Given the description of an element on the screen output the (x, y) to click on. 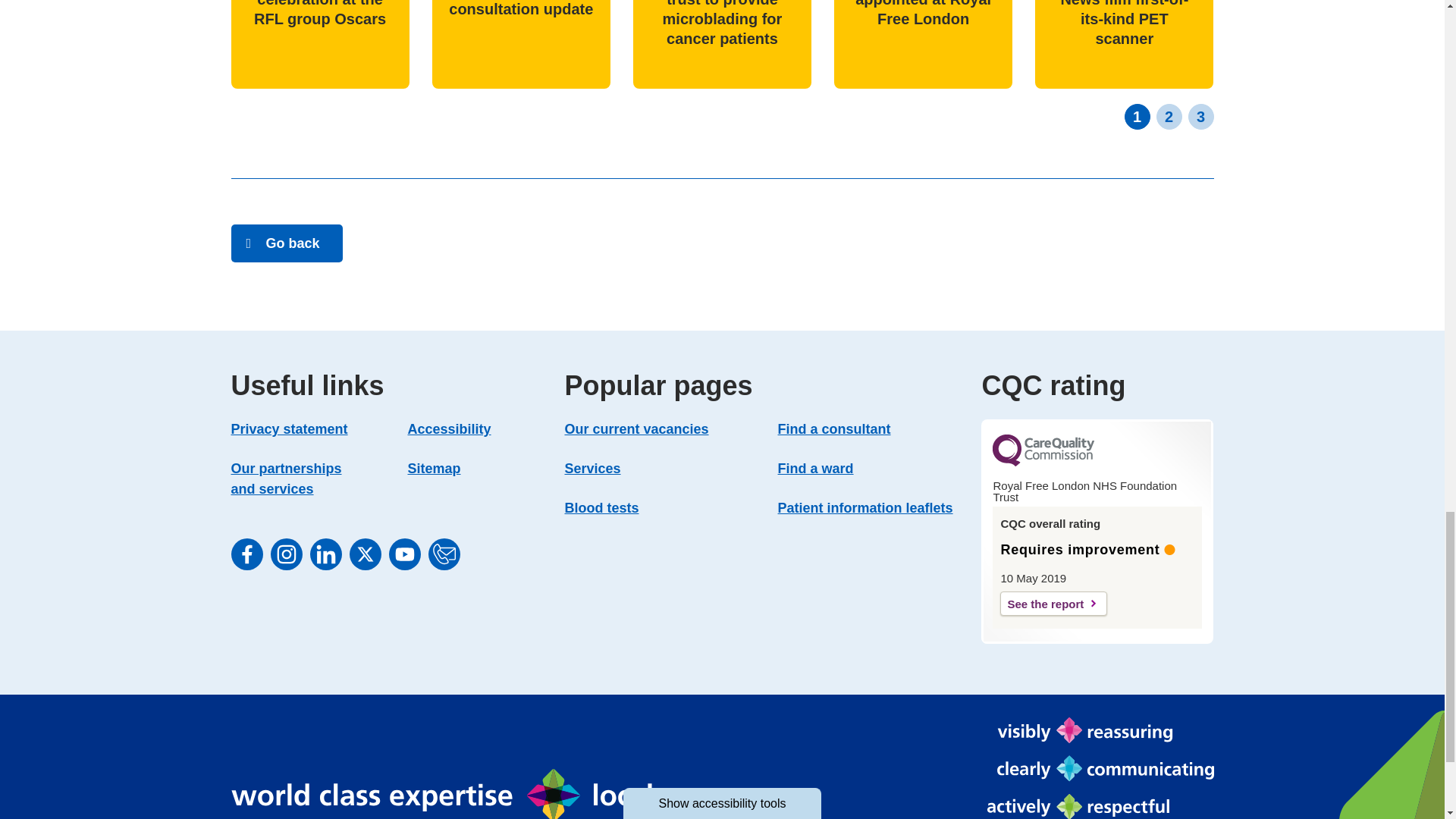
Facebook (246, 554)
LinkedIn (324, 554)
X (364, 554)
Youtube (404, 554)
Go back to News (286, 243)
Instagram (285, 554)
CQC Logo (1043, 462)
Email (444, 554)
